Given the description of an element on the screen output the (x, y) to click on. 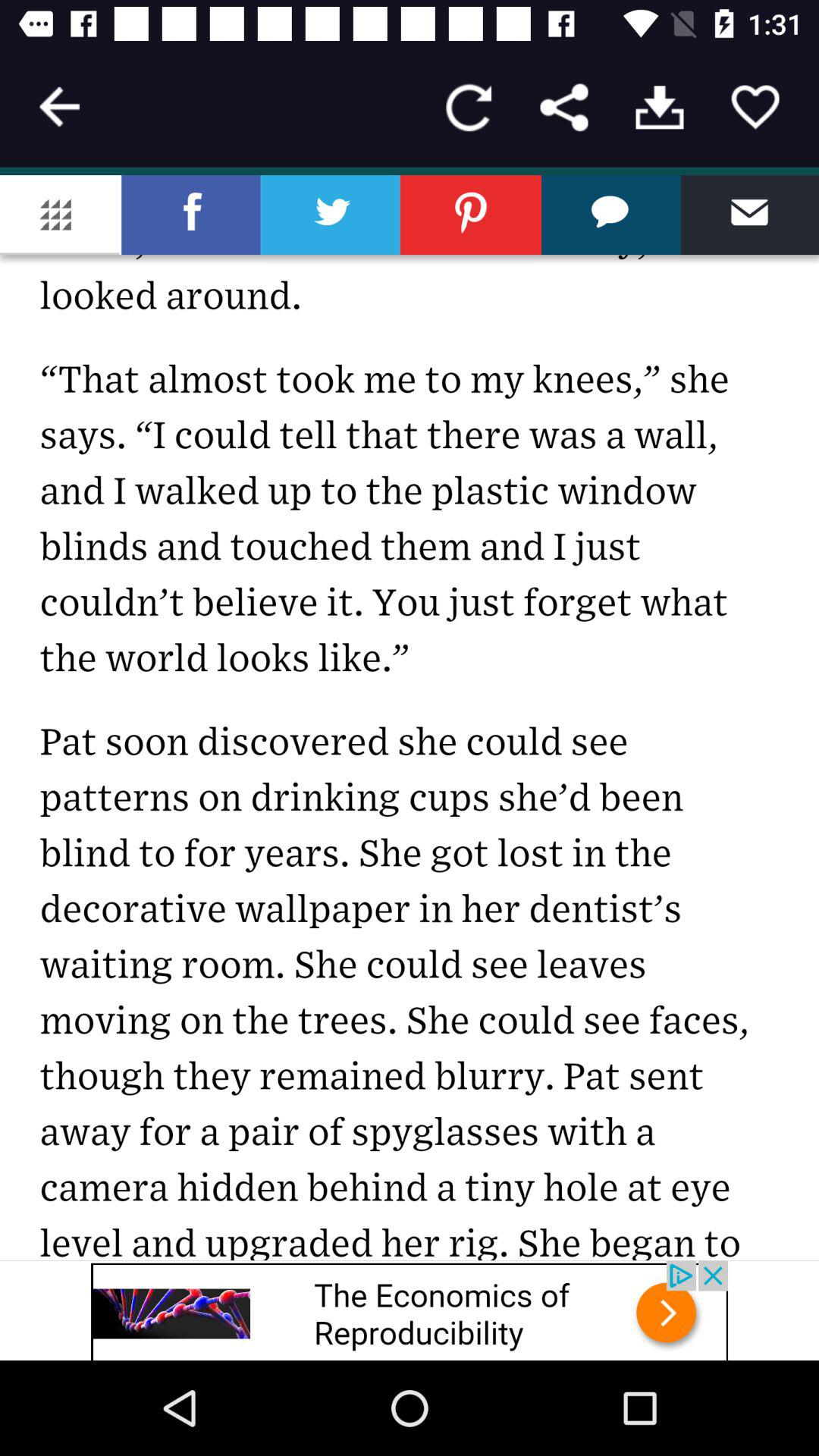
favorite (755, 107)
